Given the description of an element on the screen output the (x, y) to click on. 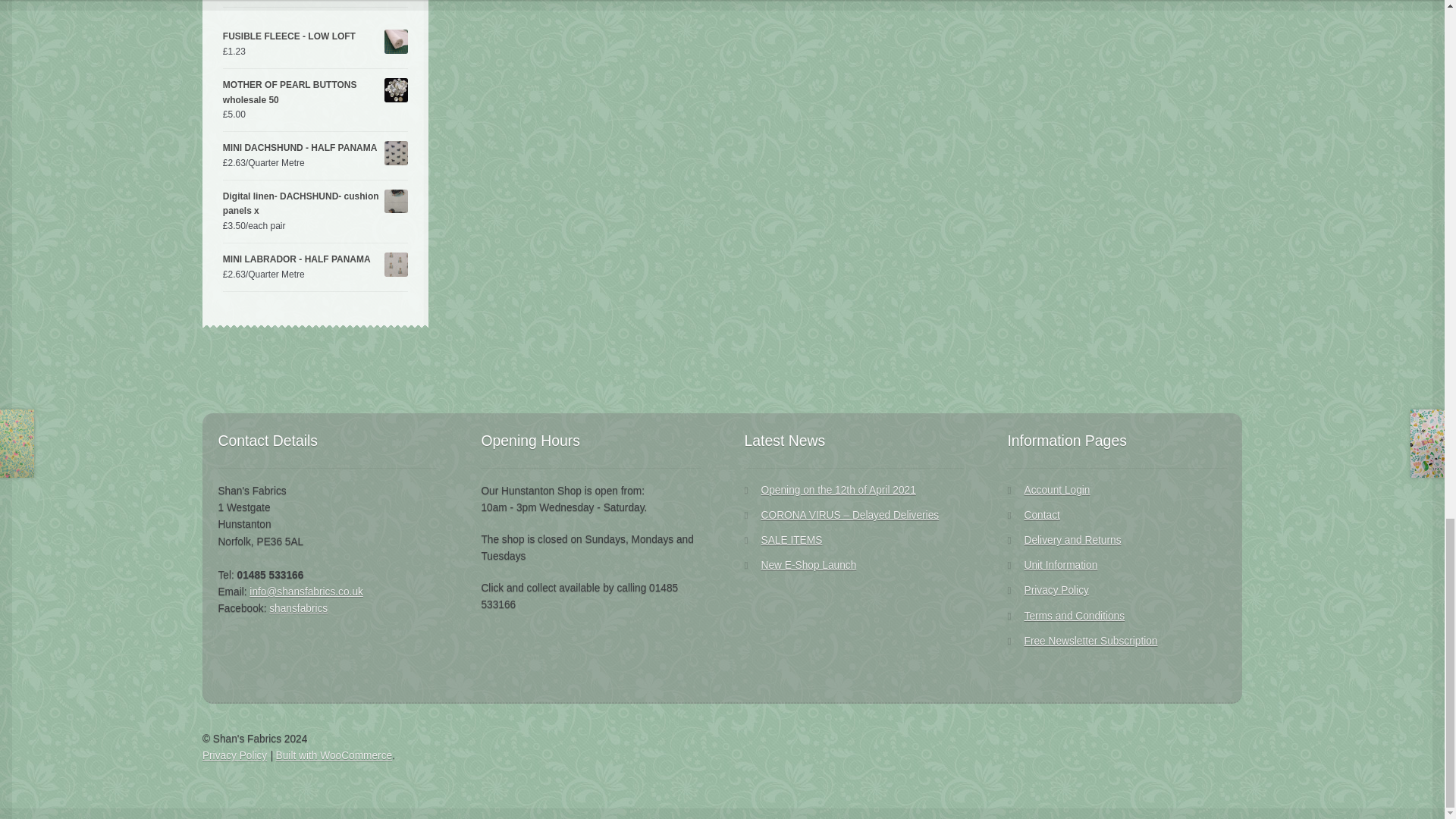
WooCommerce - The Best eCommerce Platform for WordPress (334, 755)
